Given the description of an element on the screen output the (x, y) to click on. 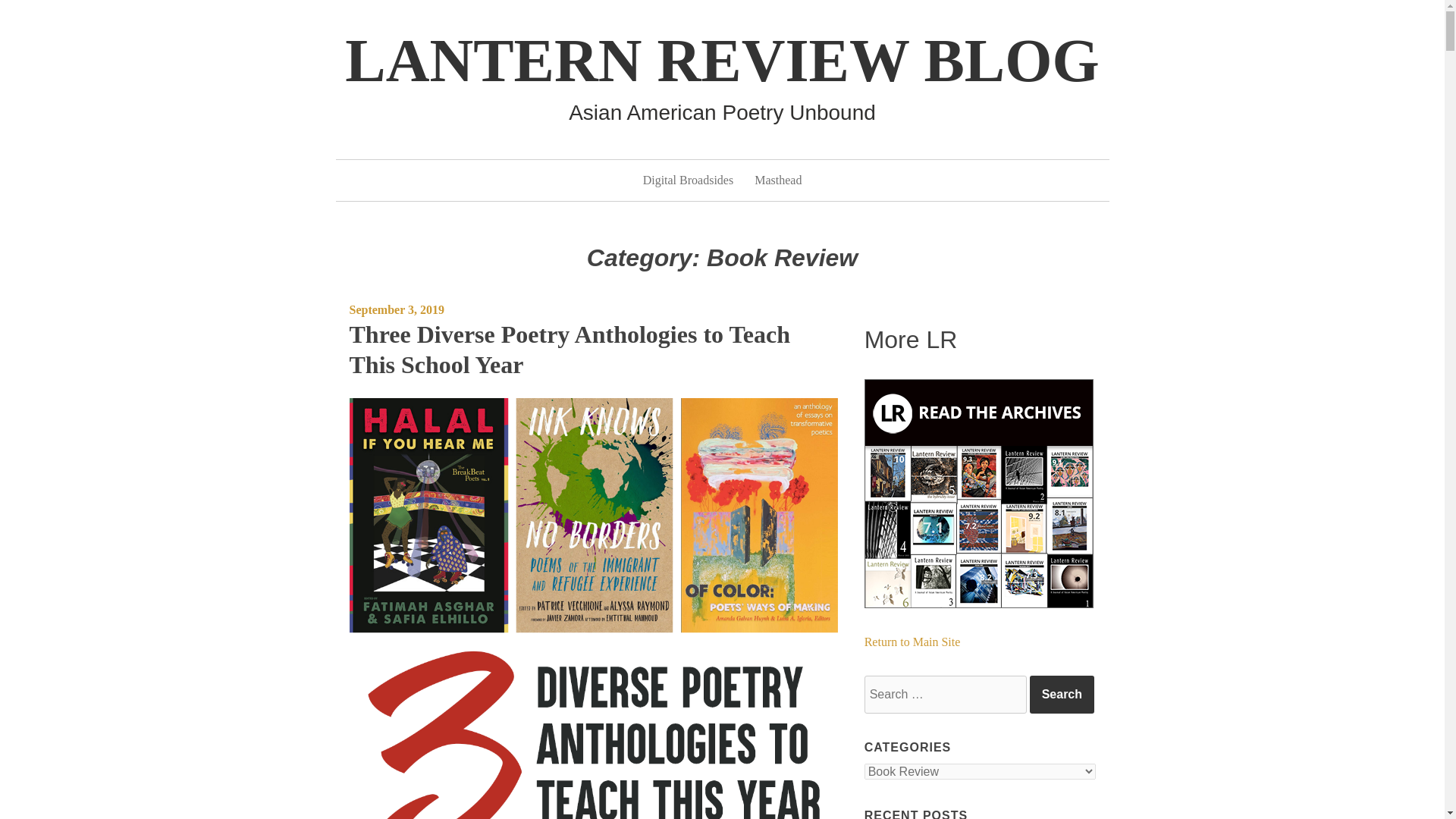
Masthead (778, 180)
Three Diverse Poetry Anthologies to Teach This School Year (569, 349)
Search (1061, 694)
Search (1061, 694)
Click to read our archives (978, 493)
LANTERN REVIEW BLOG (722, 60)
September 3, 2019 (396, 309)
Digital Broadsides (688, 180)
